Given the description of an element on the screen output the (x, y) to click on. 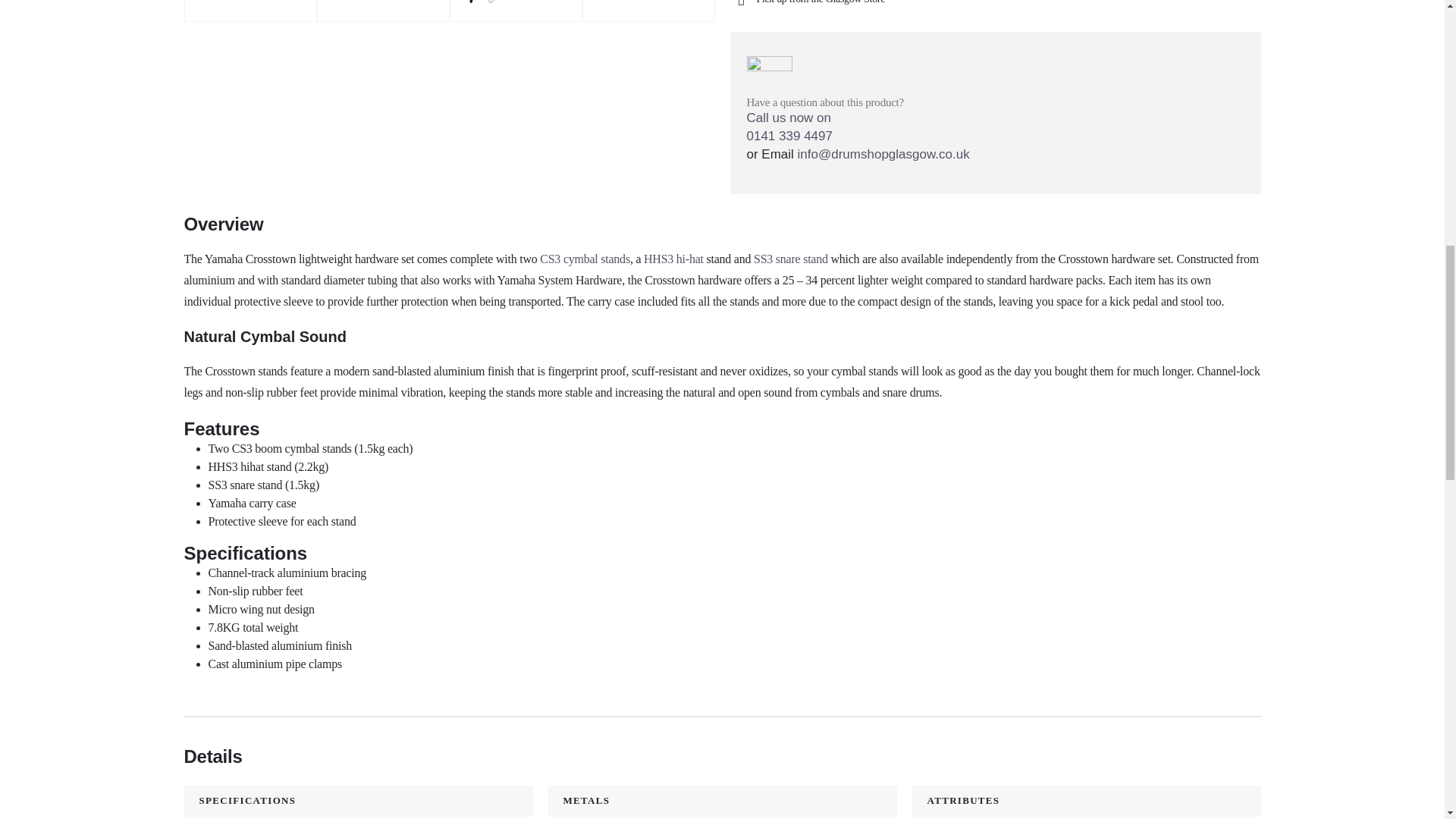
CS3 cymbal stands (585, 258)
HHS3 hi-hat (673, 258)
0141 339 4497 (788, 135)
Call us now on (994, 117)
Have a question about this product? (824, 77)
